Given the description of an element on the screen output the (x, y) to click on. 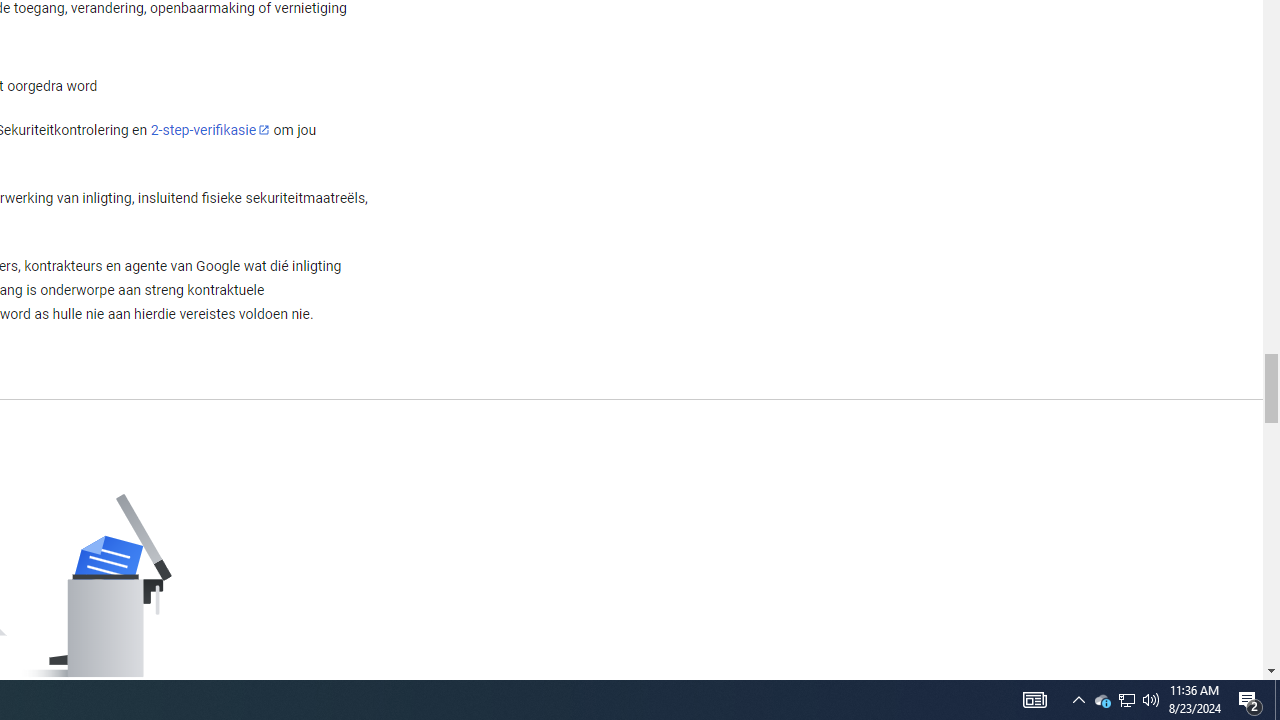
2-step-verifikasie (210, 129)
